Given the description of an element on the screen output the (x, y) to click on. 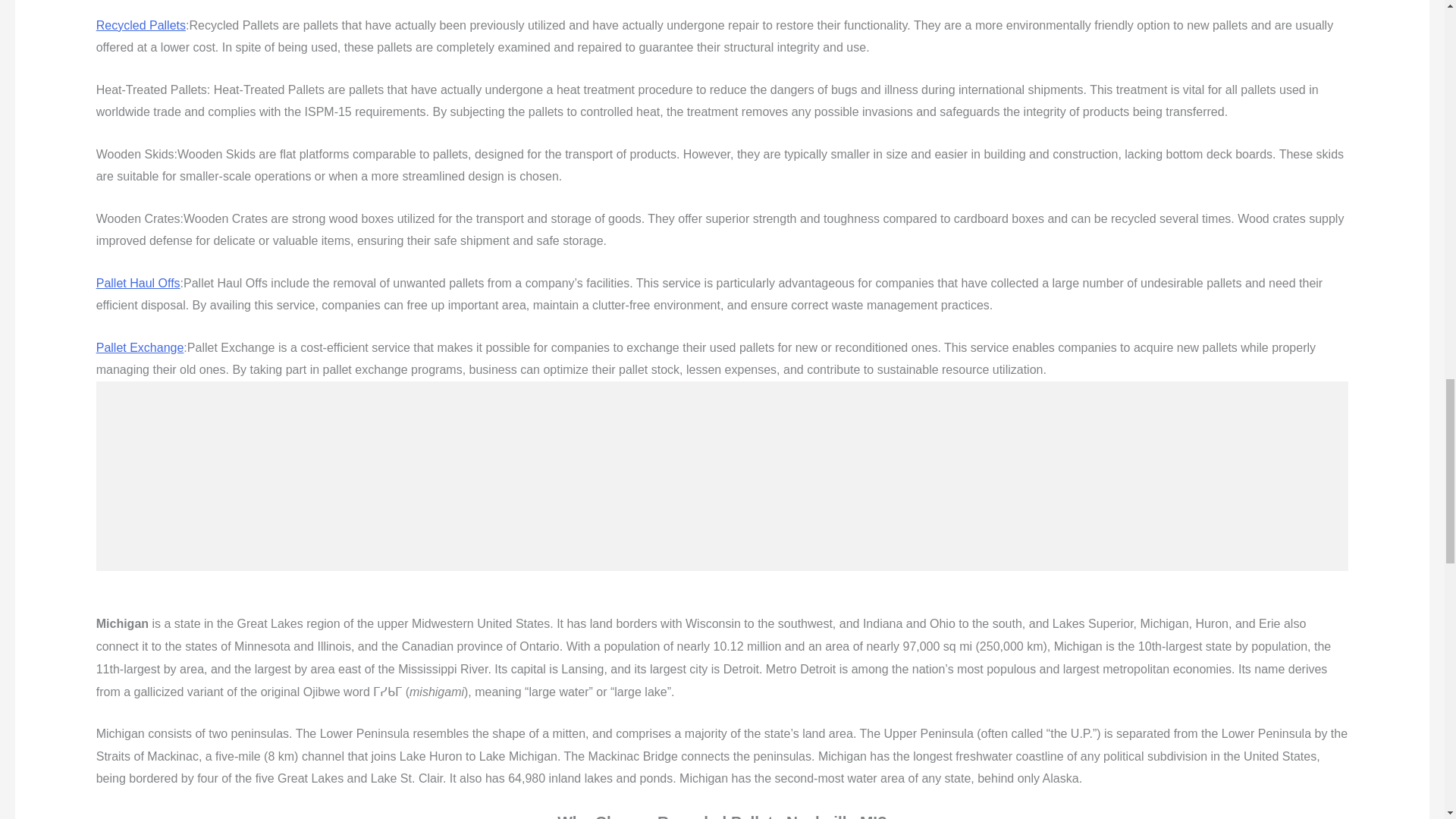
Recycled Pallets (141, 24)
Pallet Haul Offs (138, 282)
Ojibwe-language text (386, 691)
Ojibwe-language romanization (436, 691)
Pallet Exchange (140, 347)
